Given the description of an element on the screen output the (x, y) to click on. 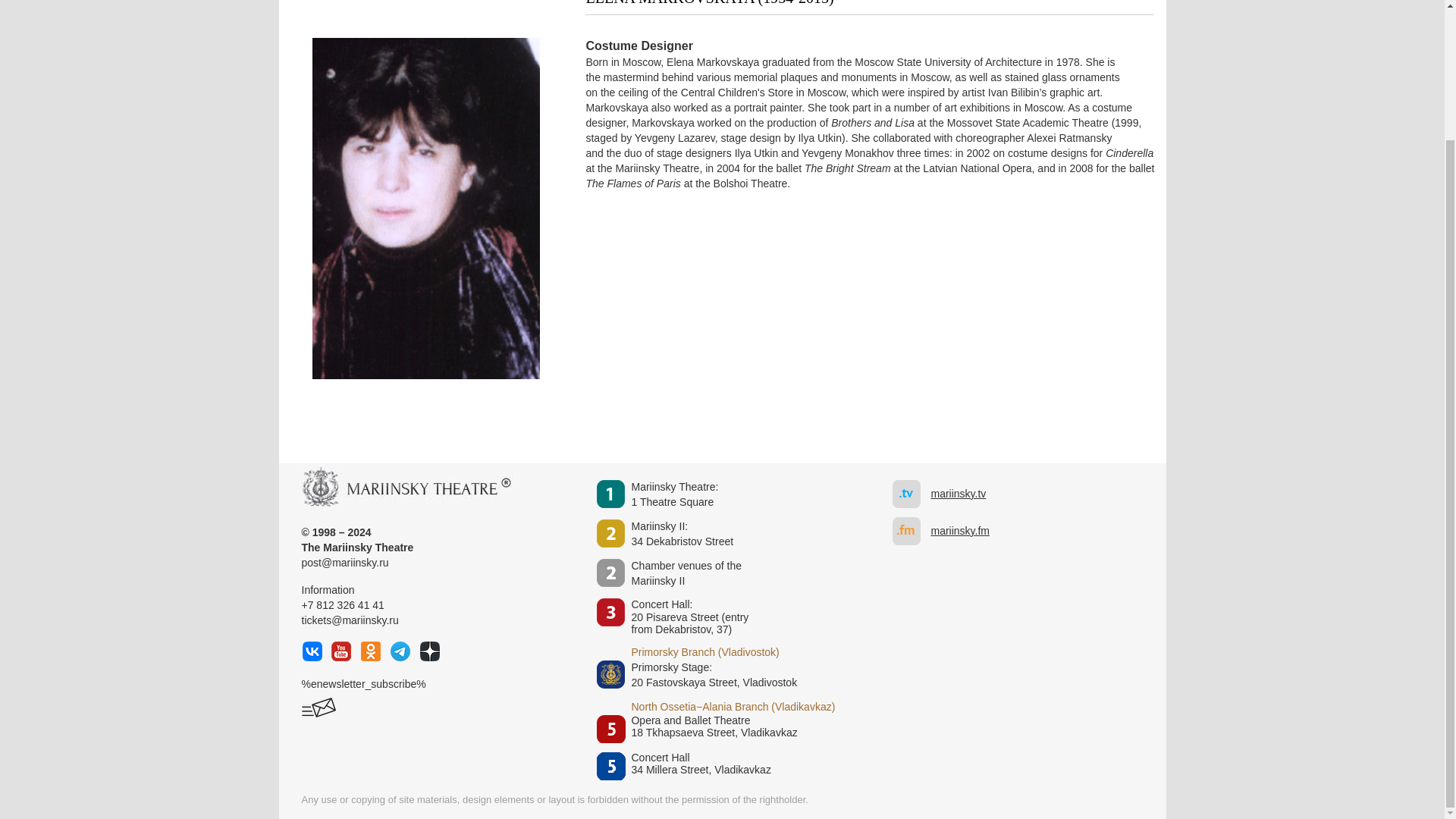
mariinsky.fm (681, 534)
mariinsky.tv (727, 728)
